Given the description of an element on the screen output the (x, y) to click on. 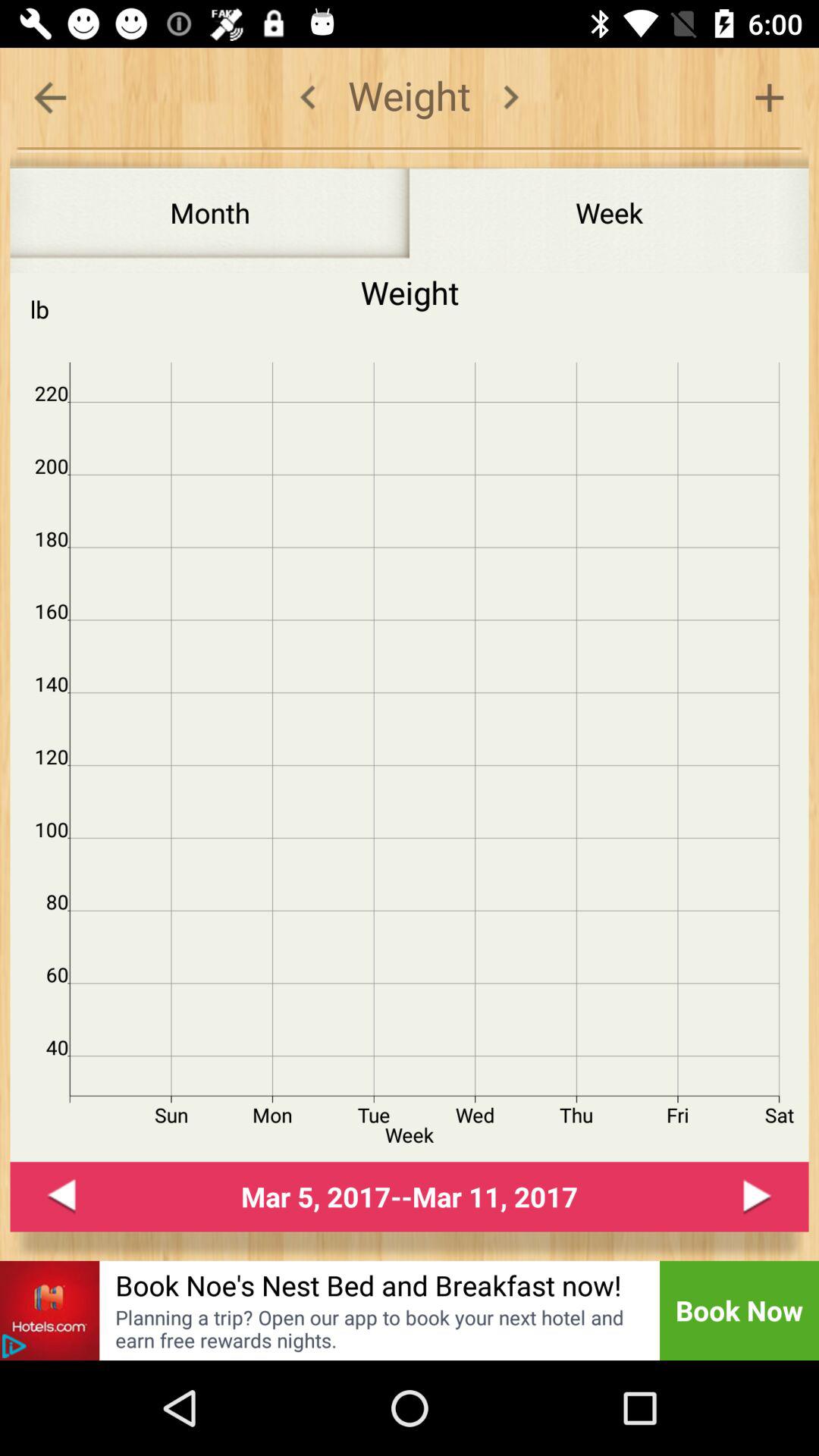
go to next week (757, 1196)
